Given the description of an element on the screen output the (x, y) to click on. 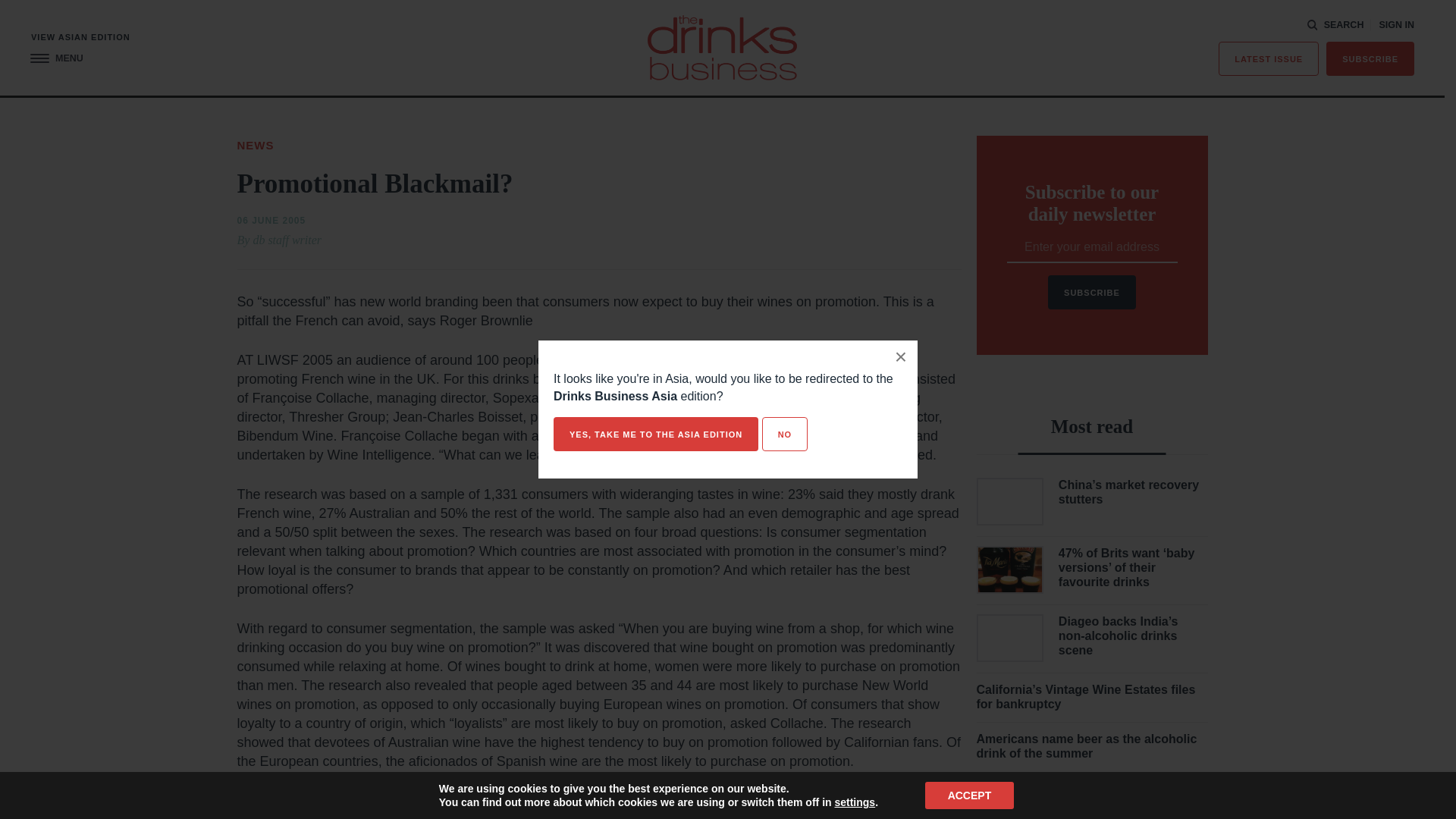
YES, TAKE ME TO THE ASIA EDITION (655, 433)
LATEST ISSUE (1268, 58)
VIEW ASIAN EDITION (80, 37)
SUBSCRIBE (1369, 58)
The Drinks Business (721, 47)
SIGN IN (1395, 25)
NO (784, 433)
